Given the description of an element on the screen output the (x, y) to click on. 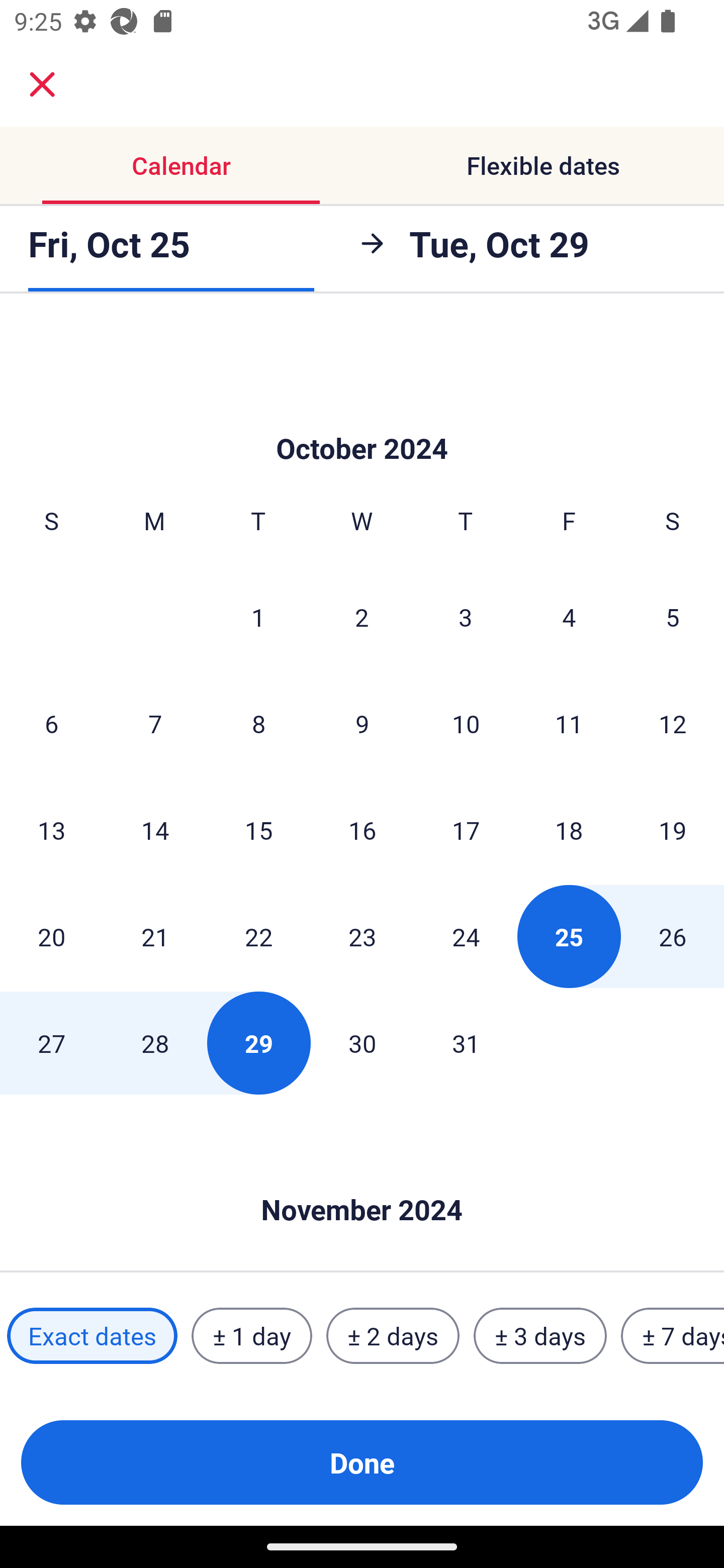
close. (42, 84)
Flexible dates (542, 164)
Skip to Done (362, 418)
1 Tuesday, October 1, 2024 (257, 616)
2 Wednesday, October 2, 2024 (361, 616)
3 Thursday, October 3, 2024 (465, 616)
4 Friday, October 4, 2024 (569, 616)
5 Saturday, October 5, 2024 (672, 616)
6 Sunday, October 6, 2024 (51, 723)
7 Monday, October 7, 2024 (155, 723)
8 Tuesday, October 8, 2024 (258, 723)
9 Wednesday, October 9, 2024 (362, 723)
10 Thursday, October 10, 2024 (465, 723)
11 Friday, October 11, 2024 (569, 723)
12 Saturday, October 12, 2024 (672, 723)
13 Sunday, October 13, 2024 (51, 829)
14 Monday, October 14, 2024 (155, 829)
15 Tuesday, October 15, 2024 (258, 829)
16 Wednesday, October 16, 2024 (362, 829)
17 Thursday, October 17, 2024 (465, 829)
18 Friday, October 18, 2024 (569, 829)
19 Saturday, October 19, 2024 (672, 829)
20 Sunday, October 20, 2024 (51, 935)
21 Monday, October 21, 2024 (155, 935)
22 Tuesday, October 22, 2024 (258, 935)
23 Wednesday, October 23, 2024 (362, 935)
24 Thursday, October 24, 2024 (465, 935)
30 Wednesday, October 30, 2024 (362, 1042)
31 Thursday, October 31, 2024 (465, 1042)
Skip to Done (362, 1179)
Exact dates (92, 1335)
± 1 day (251, 1335)
± 2 days (392, 1335)
± 3 days (539, 1335)
± 7 days (672, 1335)
Done (361, 1462)
